Given the description of an element on the screen output the (x, y) to click on. 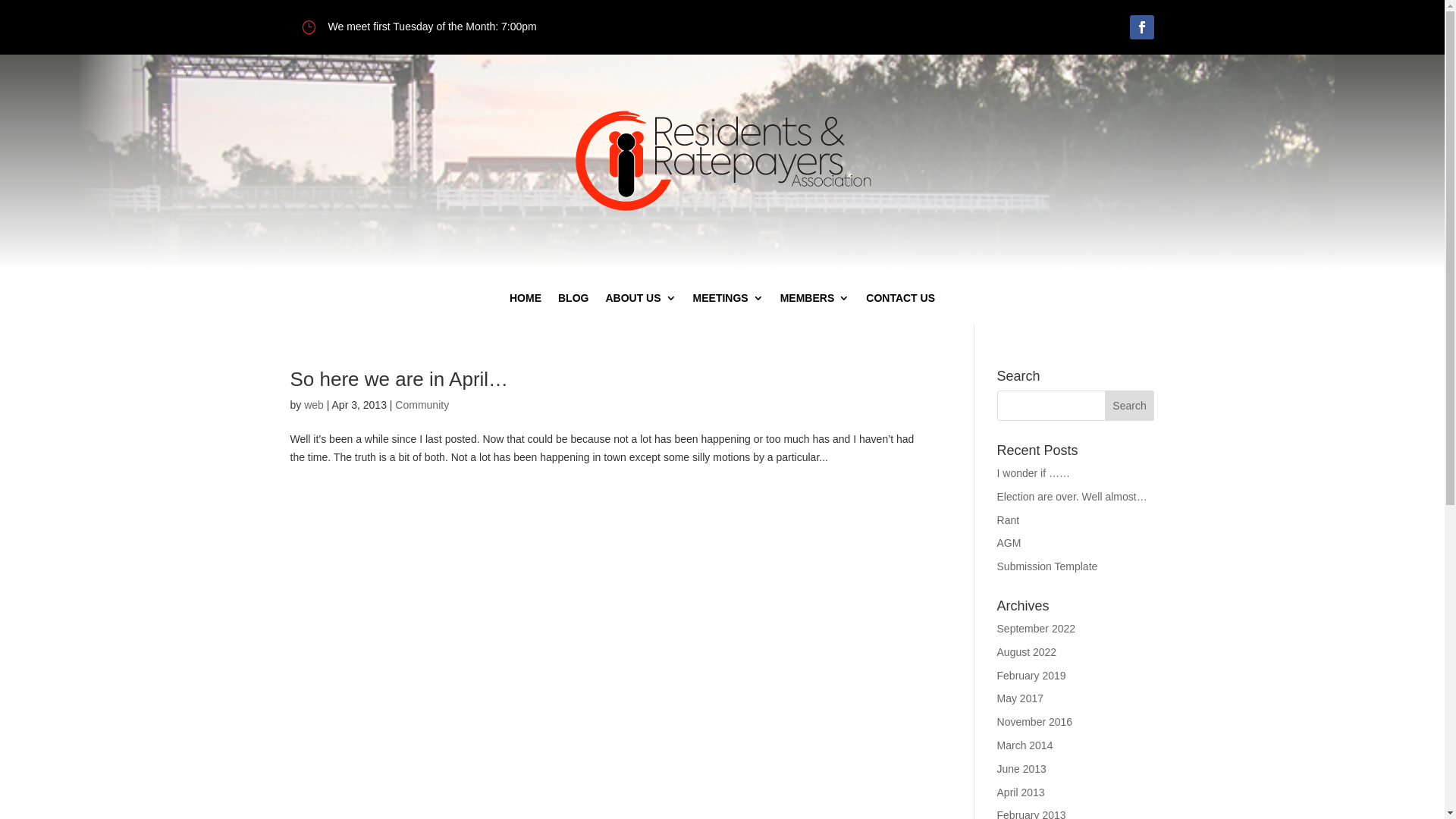
BLOG Element type: text (573, 308)
August 2022 Element type: text (1027, 652)
AGM Element type: text (1009, 542)
ABOUT US Element type: text (640, 308)
MEMBERS Element type: text (815, 308)
June 2013 Element type: text (1021, 768)
MEETINGS Element type: text (728, 308)
May 2017 Element type: text (1020, 698)
Submission Template Element type: text (1047, 566)
March 2014 Element type: text (1025, 745)
Community Element type: text (421, 404)
Rant Element type: text (1008, 520)
web Element type: text (313, 404)
Follow on Facebook Element type: hover (1141, 27)
April 2013 Element type: text (1020, 792)
CONTACT US Element type: text (900, 308)
Search Element type: text (1129, 405)
November 2016 Element type: text (1035, 721)
September 2022 Element type: text (1036, 628)
HOME Element type: text (525, 308)
logo400x145 Element type: hover (721, 161)
February 2019 Element type: text (1031, 675)
